Given the description of an element on the screen output the (x, y) to click on. 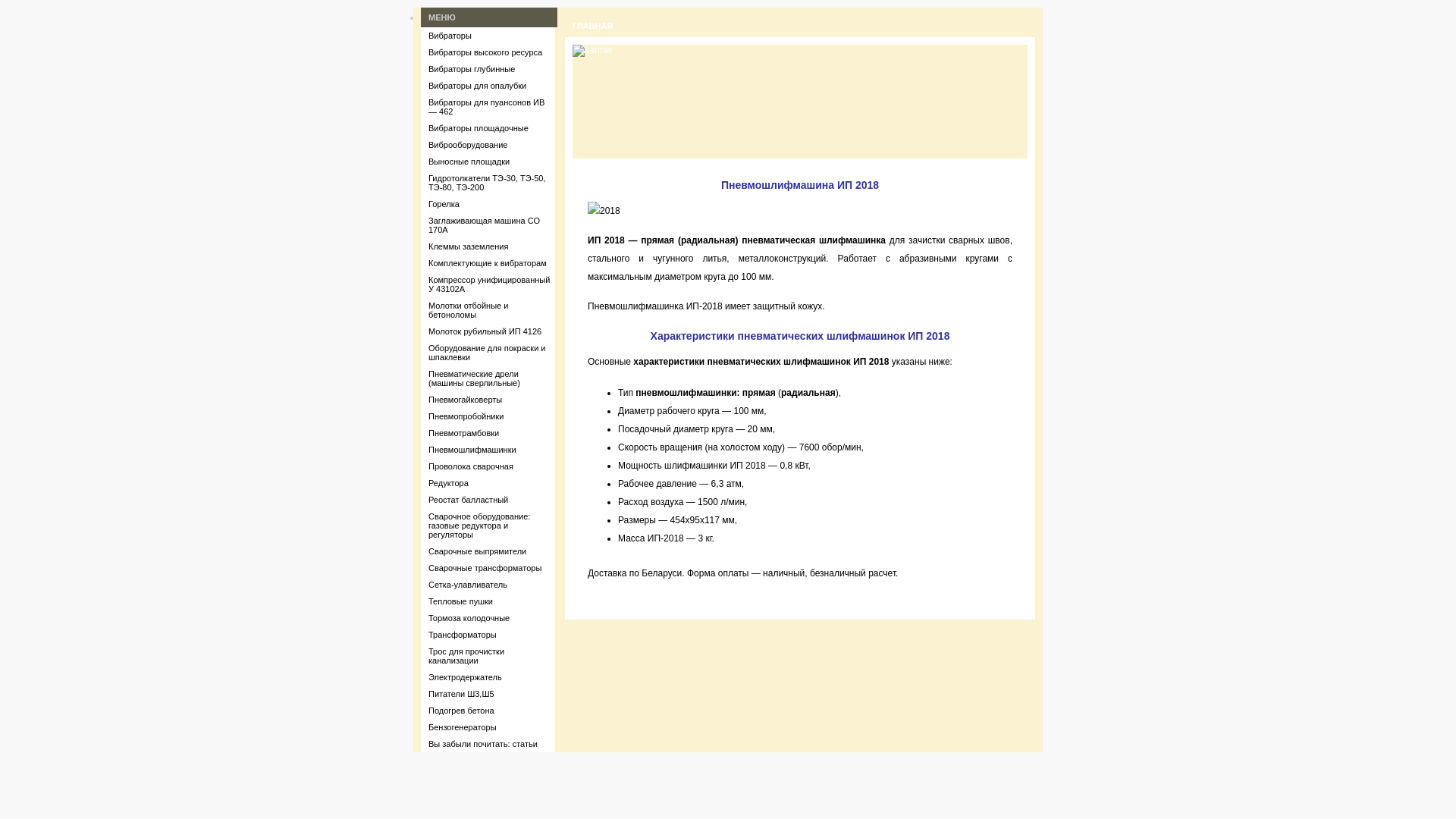
2018 Element type: hover (603, 210)
